Given the description of an element on the screen output the (x, y) to click on. 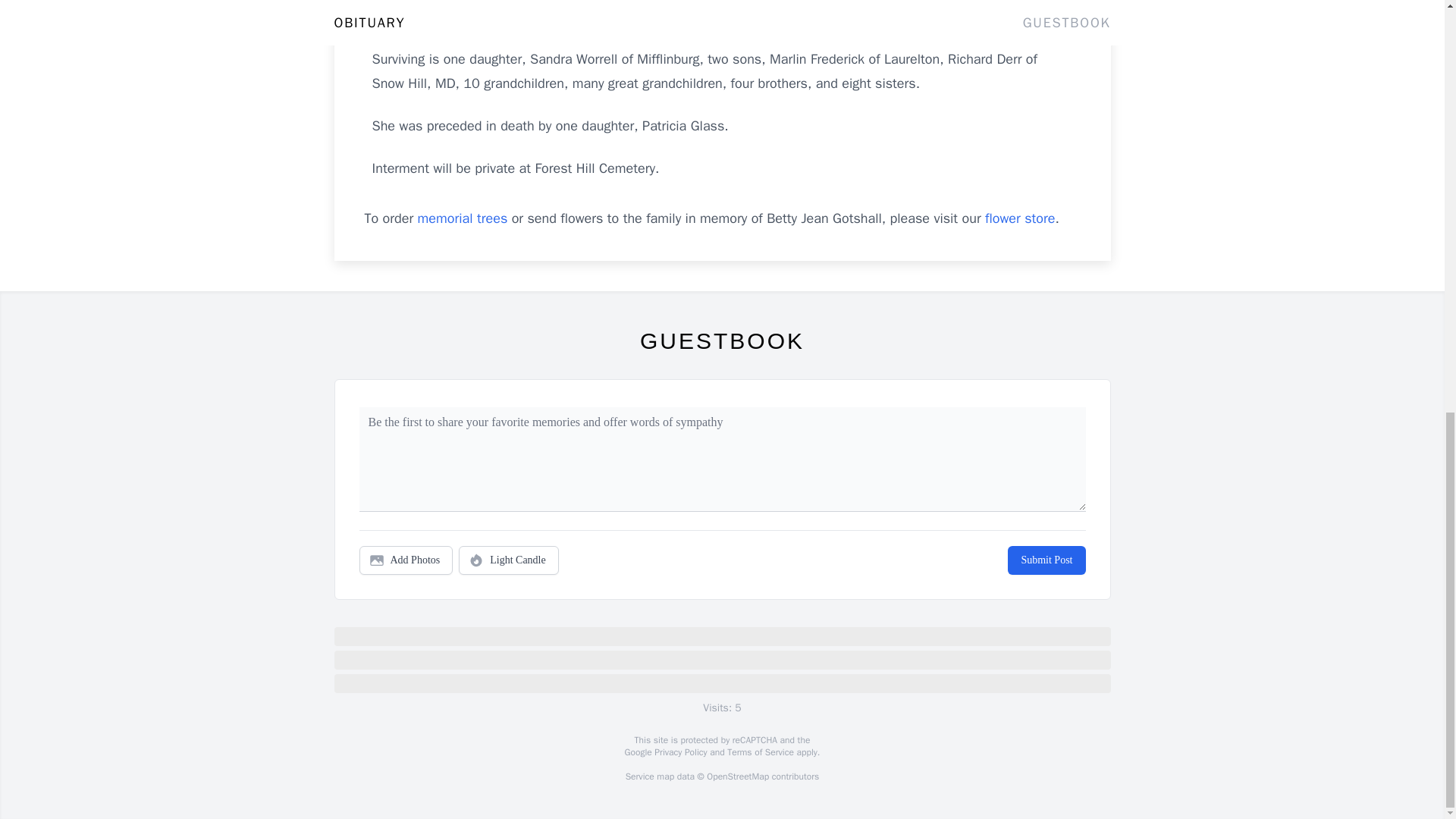
Terms of Service (759, 752)
OpenStreetMap (737, 776)
Add Photos (405, 560)
flower store (1019, 217)
Light Candle (508, 560)
Privacy Policy (679, 752)
memorial trees (462, 217)
Submit Post (1045, 560)
